Given the description of an element on the screen output the (x, y) to click on. 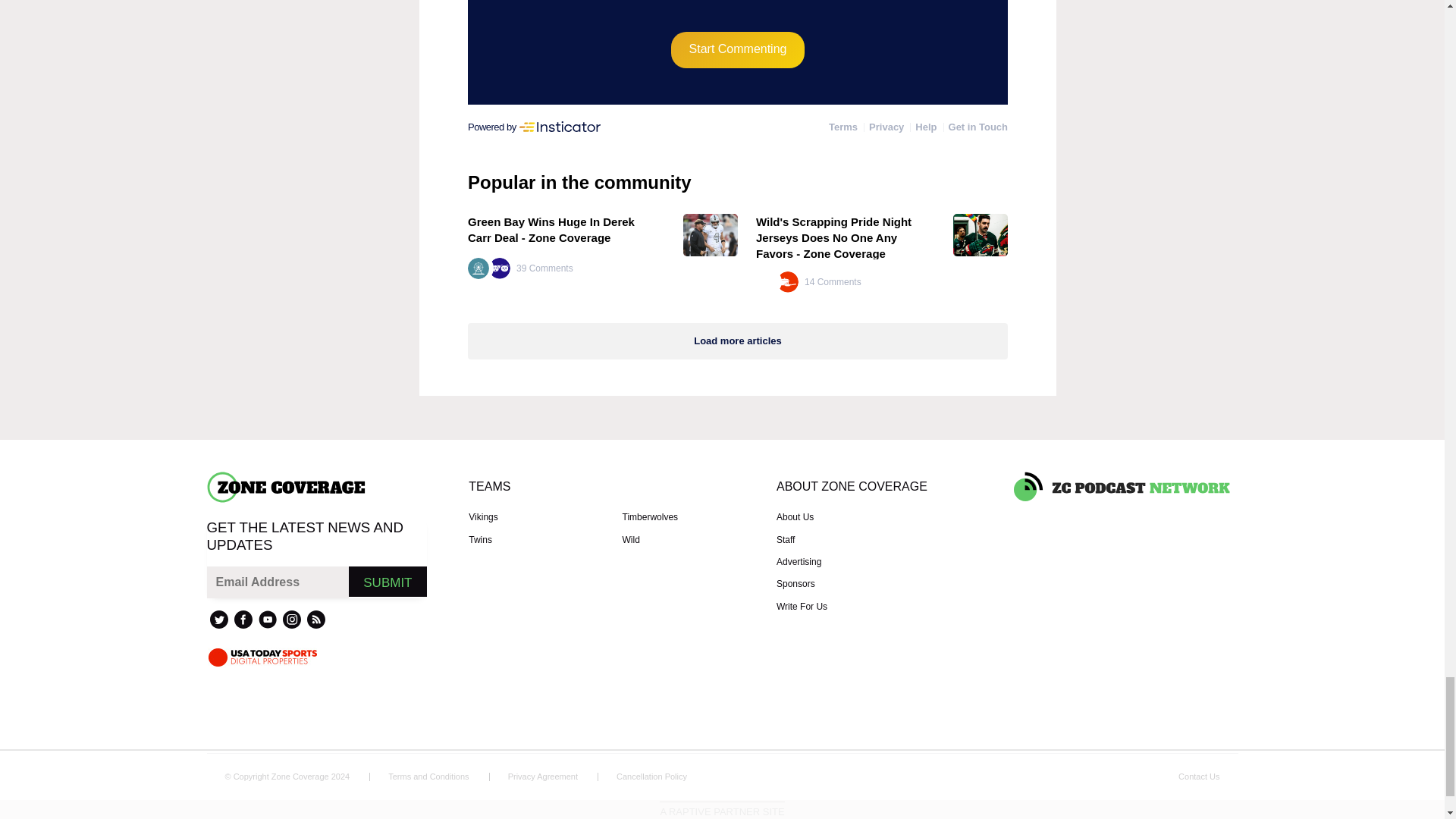
USA Today Sports (262, 657)
